Given the description of an element on the screen output the (x, y) to click on. 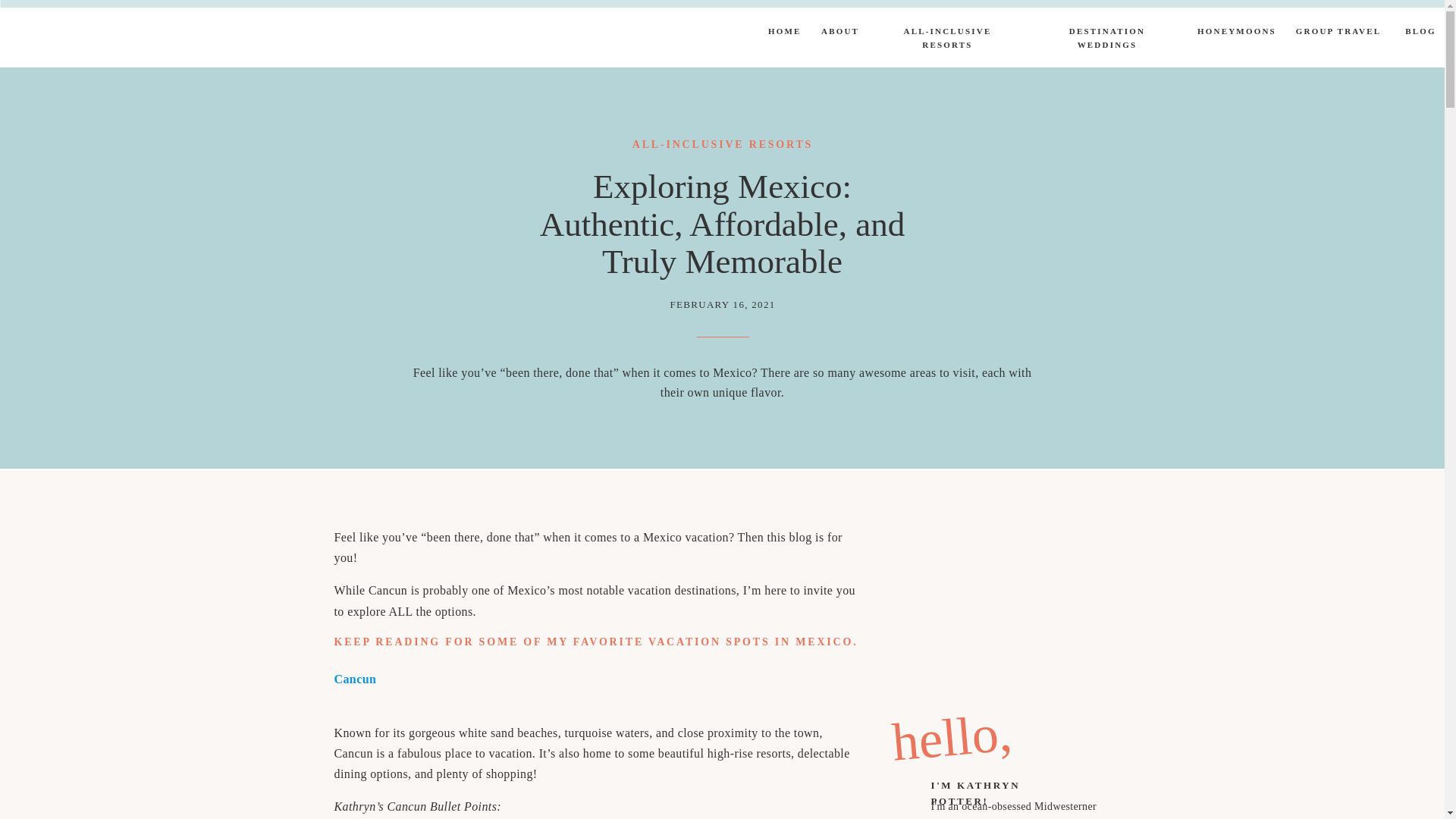
HONEYMOONS (1234, 33)
GROUP TRAVEL (1338, 33)
BLOG (1420, 33)
ALL-INCLUSIVE RESORTS (721, 143)
HOME (782, 33)
ABOUT (839, 33)
ALL-INCLUSIVE RESORTS (947, 31)
DESTINATION WEDDINGS (1106, 30)
